Given the description of an element on the screen output the (x, y) to click on. 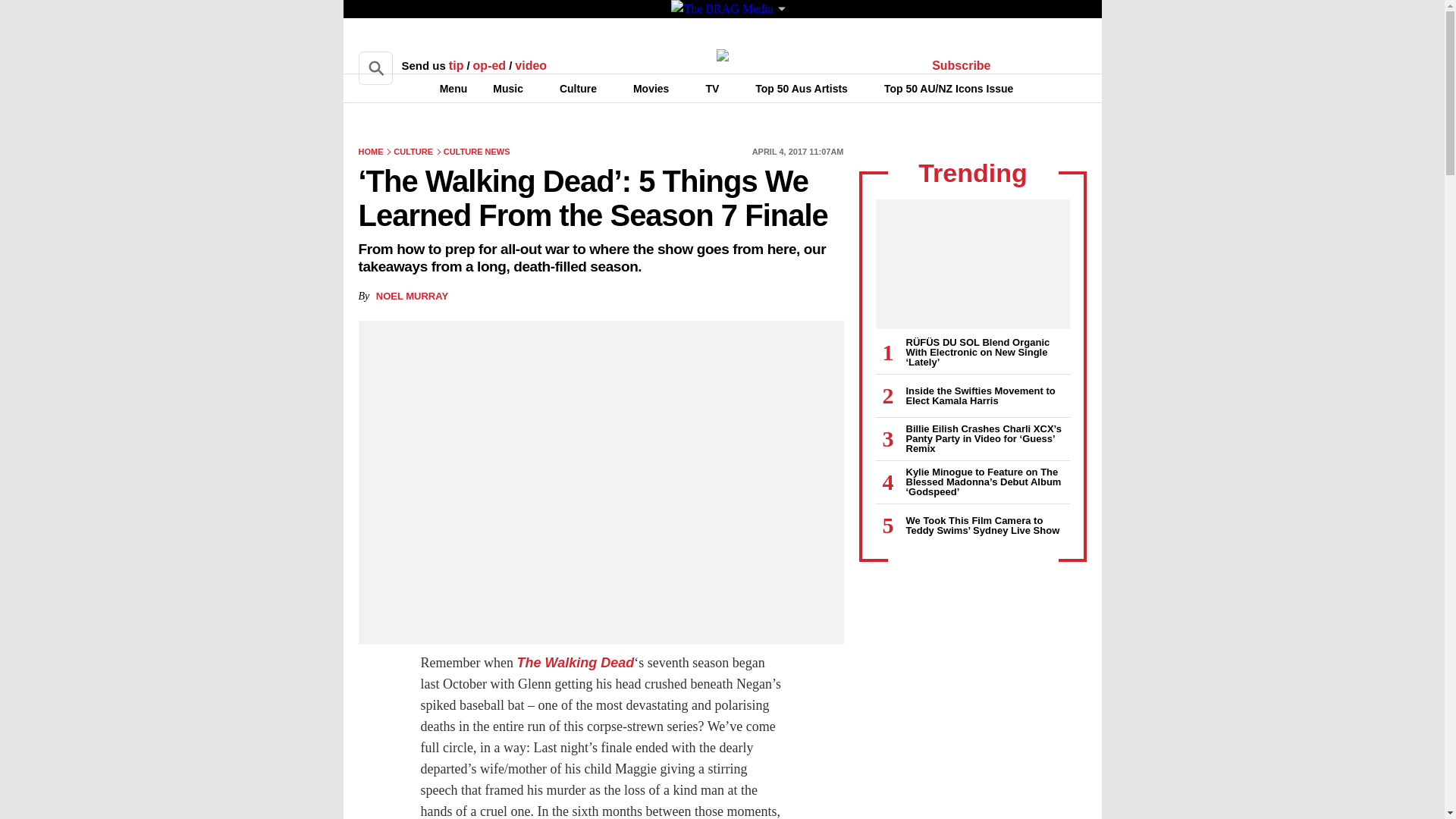
Search (374, 68)
op-ed (489, 65)
Menu (444, 87)
Search (374, 68)
Subscribe (961, 65)
tip (456, 65)
Rolling Stone Australia (722, 54)
video (531, 65)
